Given the description of an element on the screen output the (x, y) to click on. 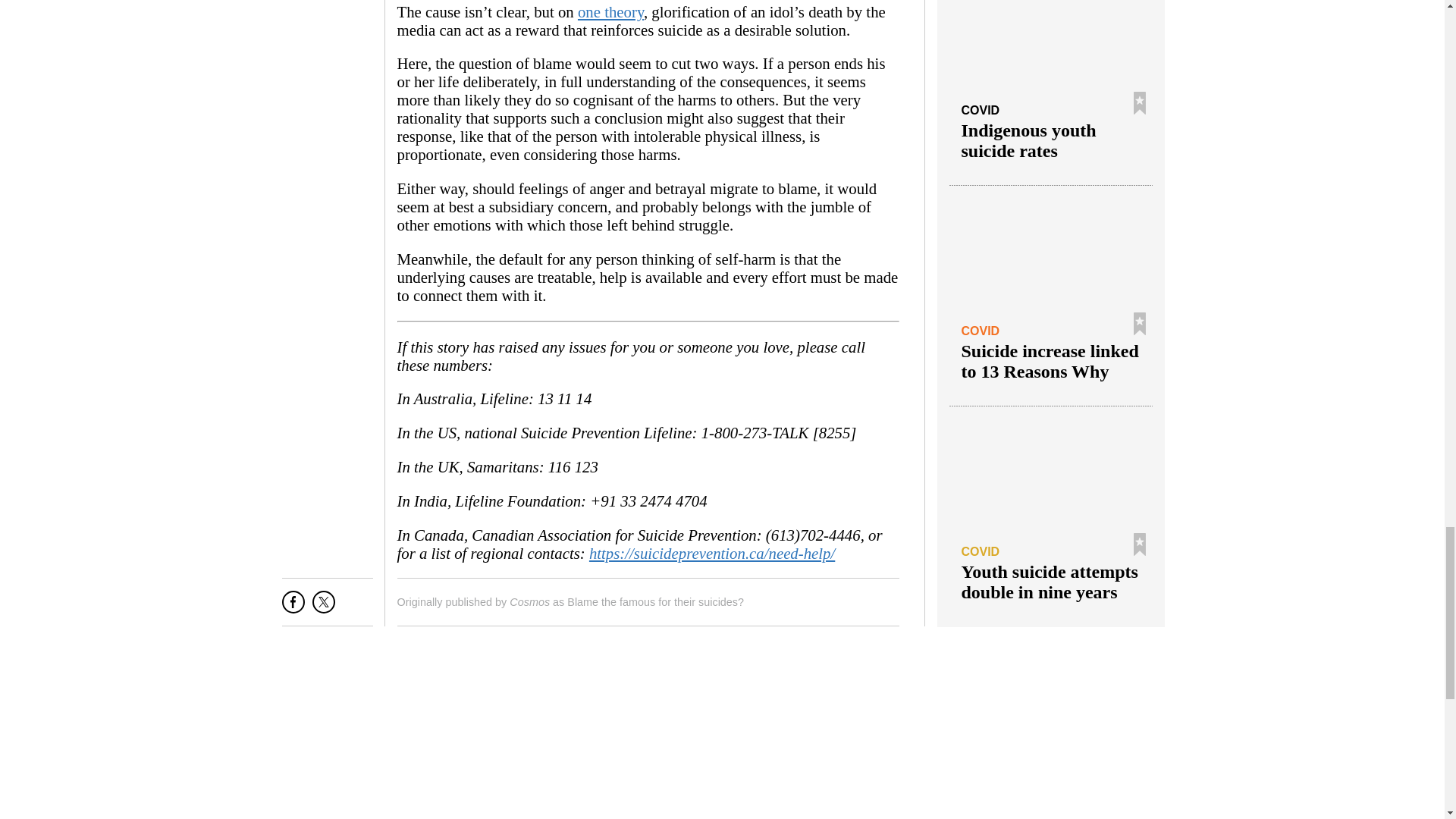
Share on Facebook (293, 607)
Tweet (323, 607)
Blame the famous for their suicides? (655, 602)
